Given the description of an element on the screen output the (x, y) to click on. 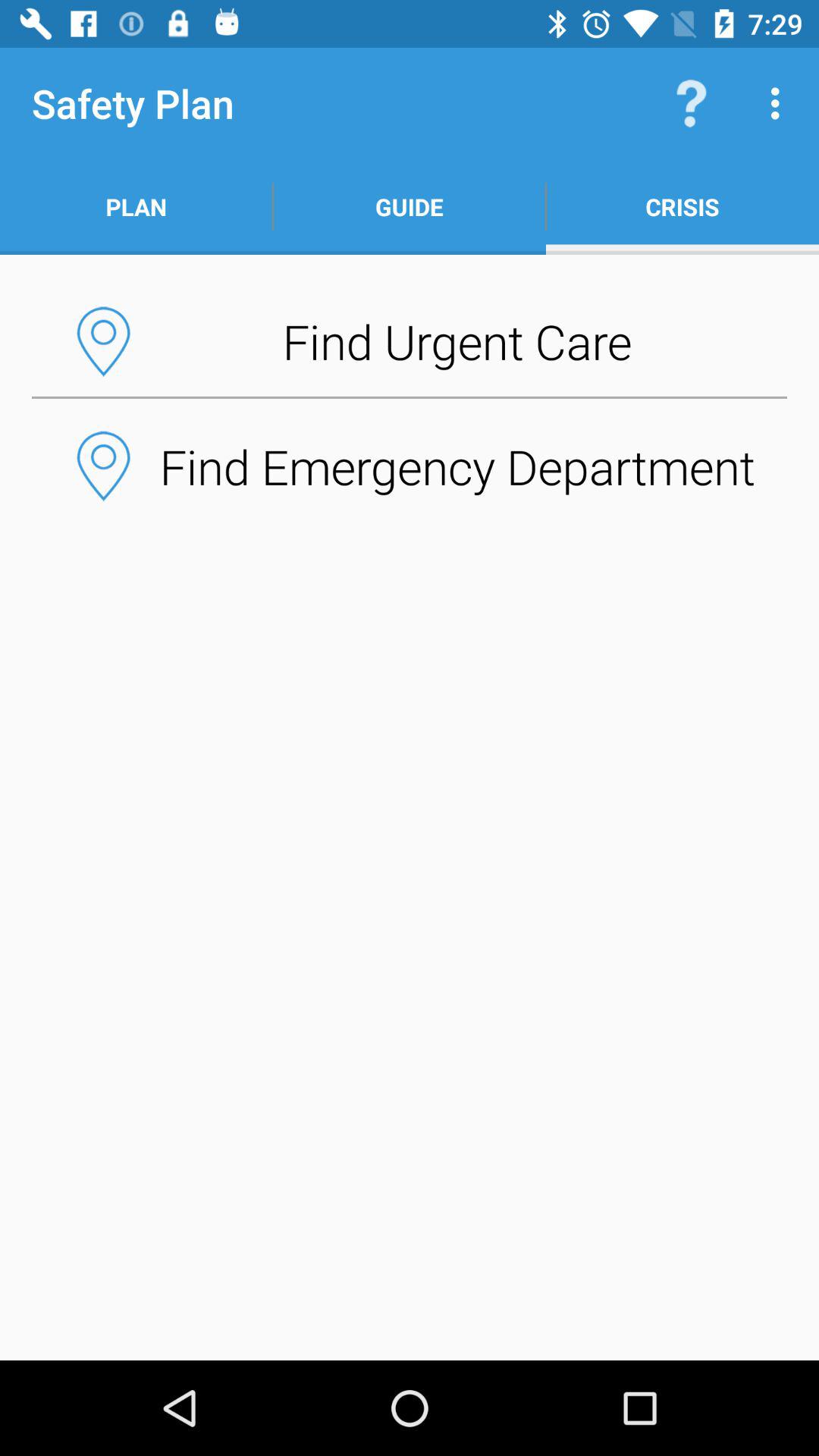
flip to guide (409, 206)
